Given the description of an element on the screen output the (x, y) to click on. 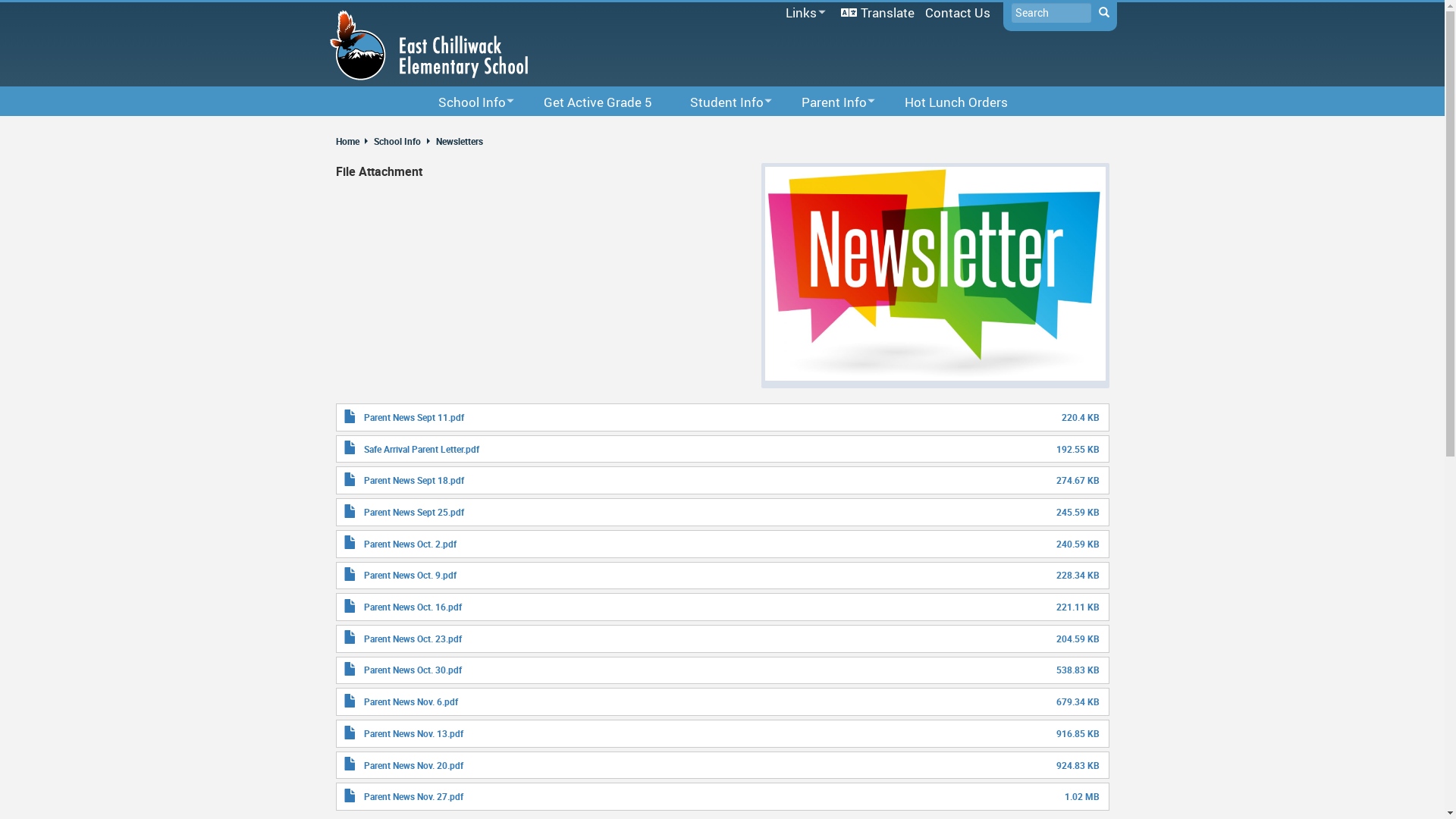
Office 365 Element type: text (784, 32)
Parent News Nov. 27.pdf Element type: text (413, 796)
Translate Element type: text (877, 12)
Parent News Nov. 13.pdf Element type: text (413, 733)
Parent News Sept 25.pdf Element type: text (414, 511)
Parent News Sept 18.pdf Element type: text (414, 479)
Contact Us Element type: text (956, 12)
Parent News Oct. 23.pdf Element type: text (412, 638)
Hot Lunch Orders Element type: text (955, 101)
Search Element type: text (1103, 12)
Skip to main content Element type: text (0, 0)
School Info Element type: text (396, 141)
Parent News Oct. 2.pdf Element type: text (410, 543)
Office 365 Element type: text (1082, 130)
Parent News Oct. 9.pdf Element type: text (410, 574)
Parent News Nov. 20.pdf Element type: text (413, 765)
Parent News Nov. 6.pdf Element type: text (411, 701)
Get Active Grade 5 Element type: text (597, 101)
Home Element type: text (352, 140)
Code Of Conduct Element type: text (735, 130)
School Information Element type: text (488, 130)
Newsletters Element type: text (458, 141)
Parent News Oct. 30.pdf Element type: text (412, 669)
Parent News Oct. 16.pdf Element type: text (412, 606)
Safe Arrival Parent Letter.pdf Element type: text (421, 448)
Parent Information Element type: text (880, 130)
Parent News Sept 11.pdf Element type: text (414, 417)
